Given the description of an element on the screen output the (x, y) to click on. 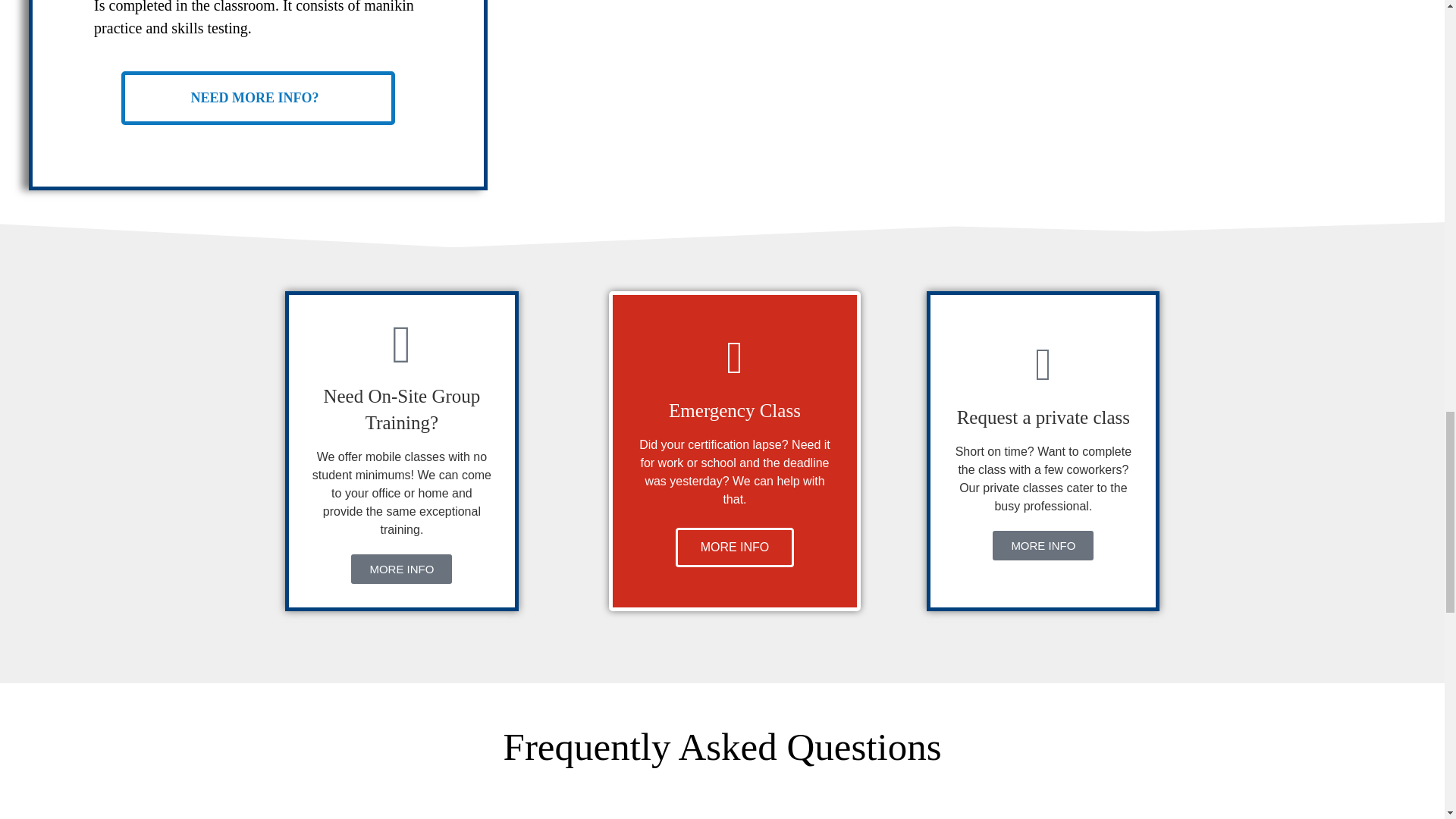
MORE INFO (734, 547)
MORE INFO (1042, 545)
MORE INFO (400, 568)
NEED MORE INFO? (257, 98)
